Given the description of an element on the screen output the (x, y) to click on. 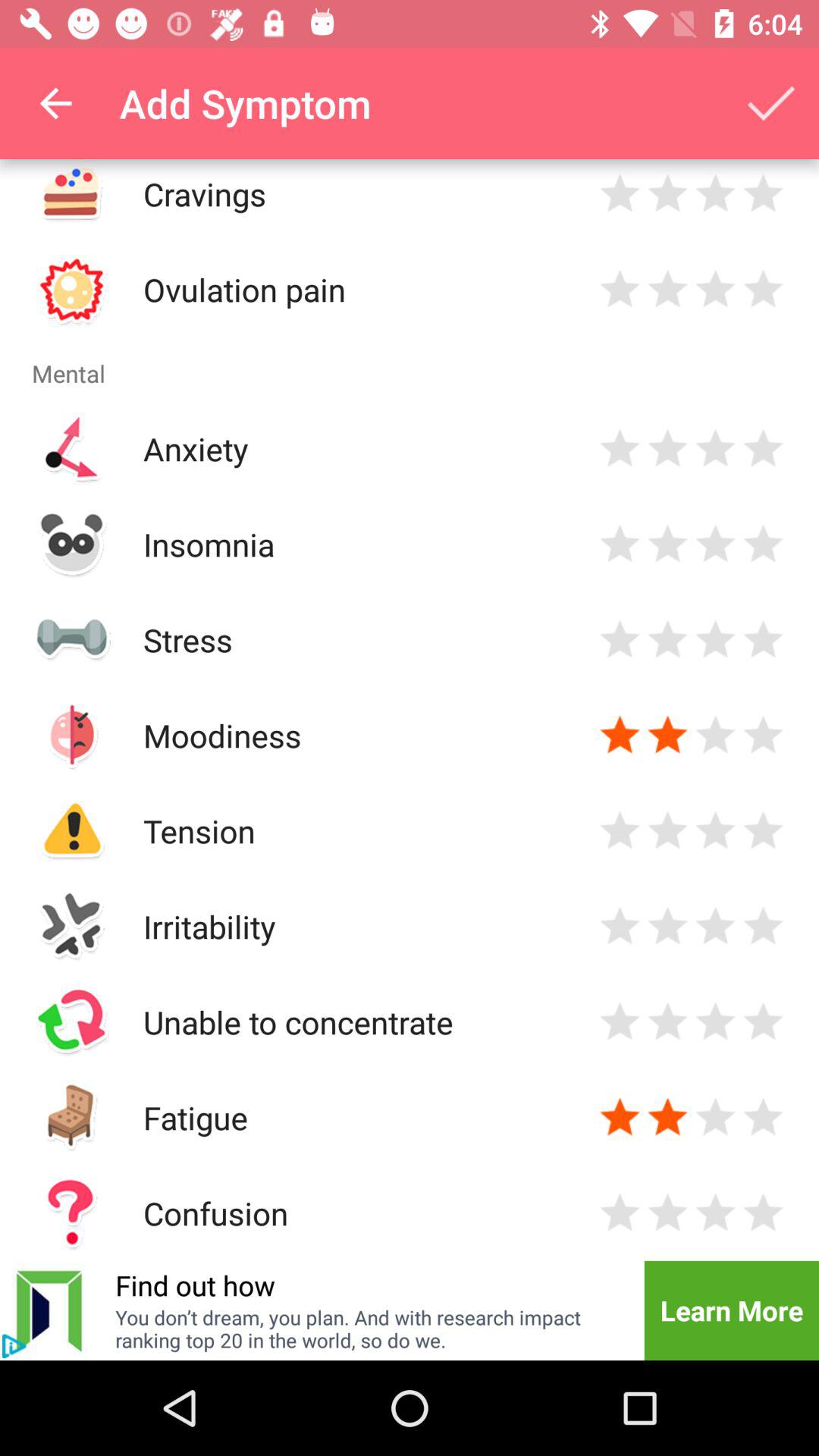
rate item 4 stars (763, 639)
